Given the description of an element on the screen output the (x, y) to click on. 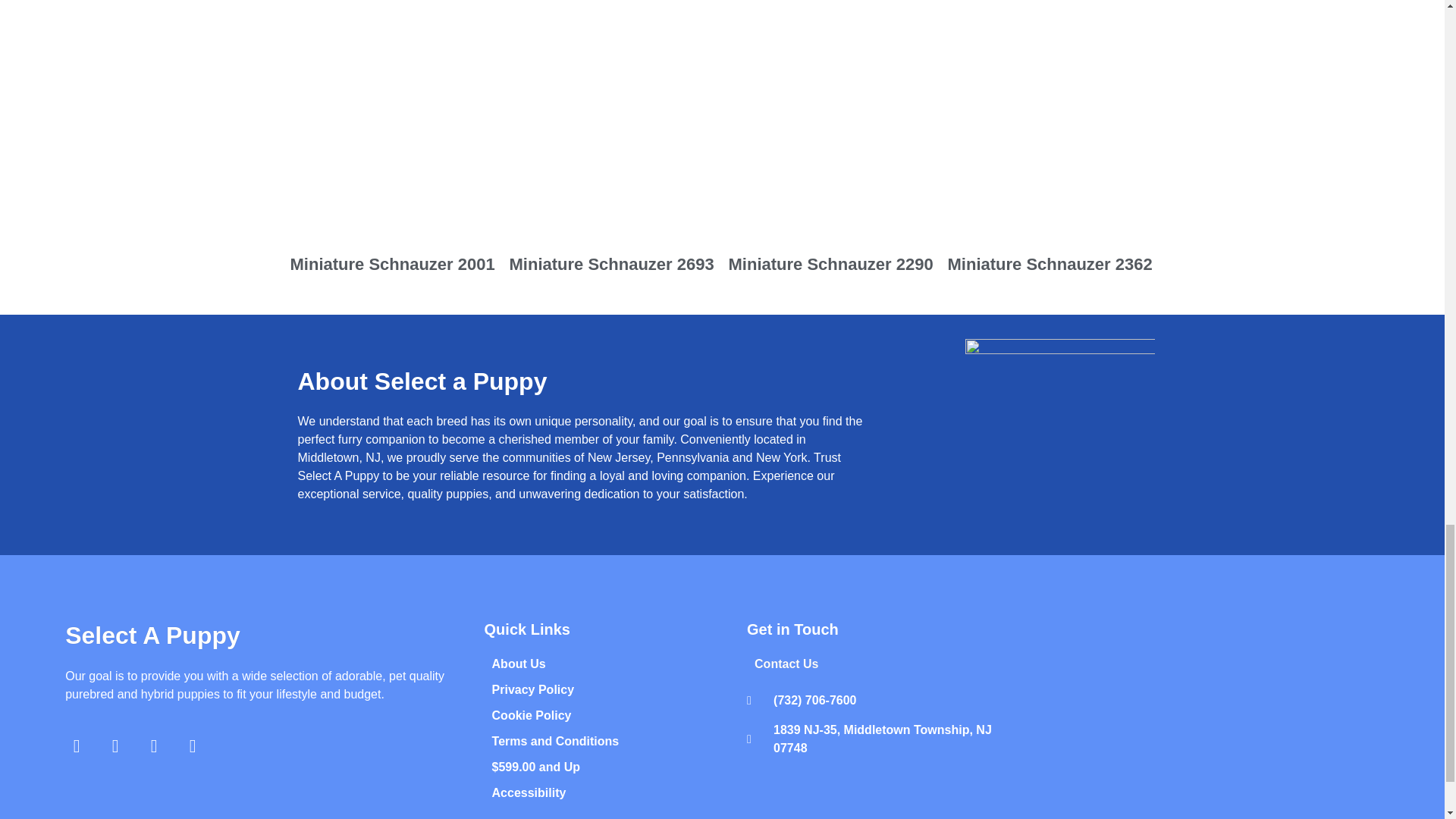
Select A Puppy (152, 635)
Cookie Policy (621, 715)
Privacy Policy (621, 689)
Select A Puppy, 1839 NJ-35, Middletown Township, NJ 07748 (1203, 714)
Terms and Conditions (621, 741)
About Us (621, 664)
